Given the description of an element on the screen output the (x, y) to click on. 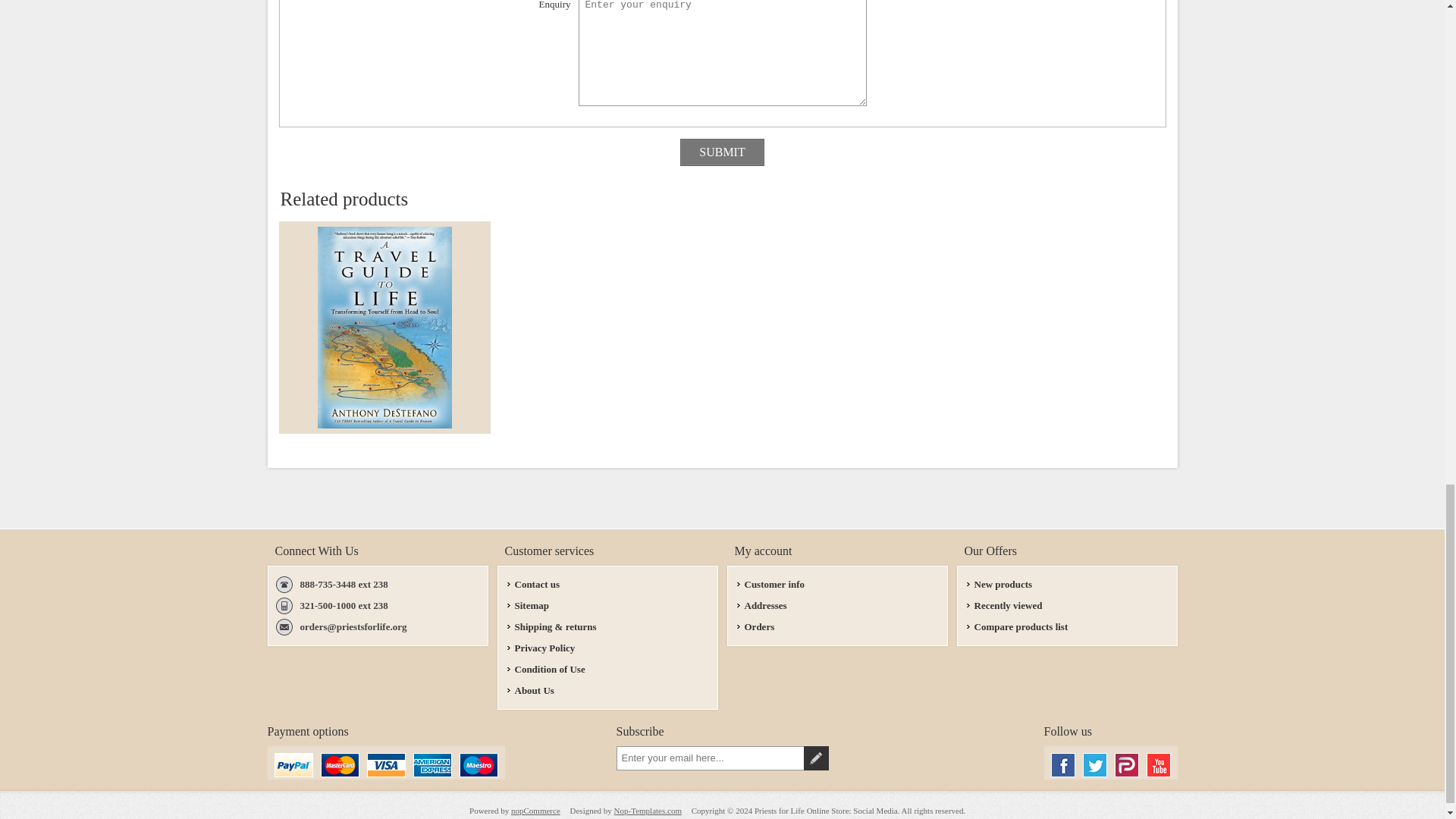
Submit (720, 152)
Subscribe (815, 758)
